Given the description of an element on the screen output the (x, y) to click on. 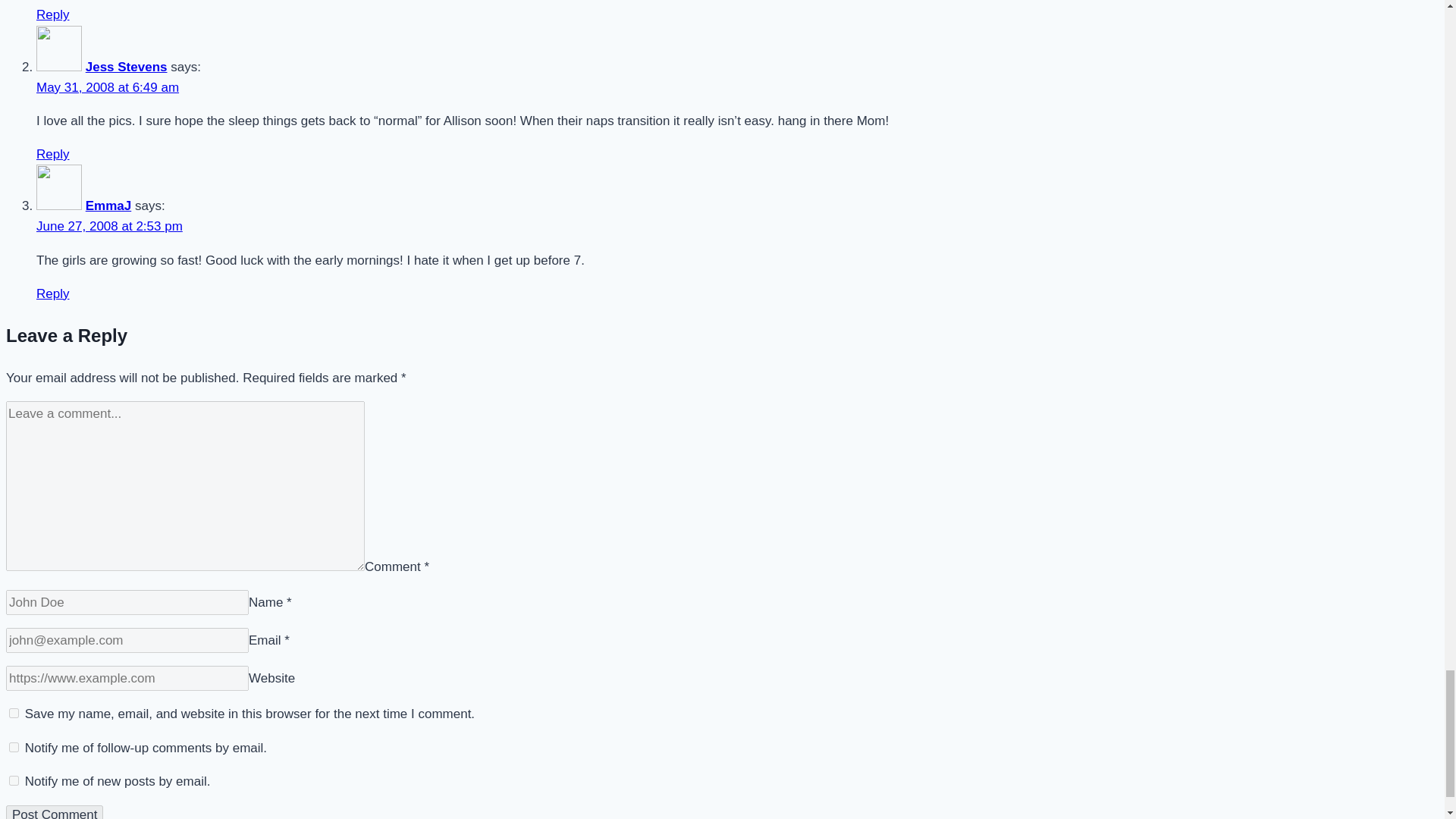
yes (13, 713)
subscribe (13, 780)
subscribe (13, 747)
